Given the description of an element on the screen output the (x, y) to click on. 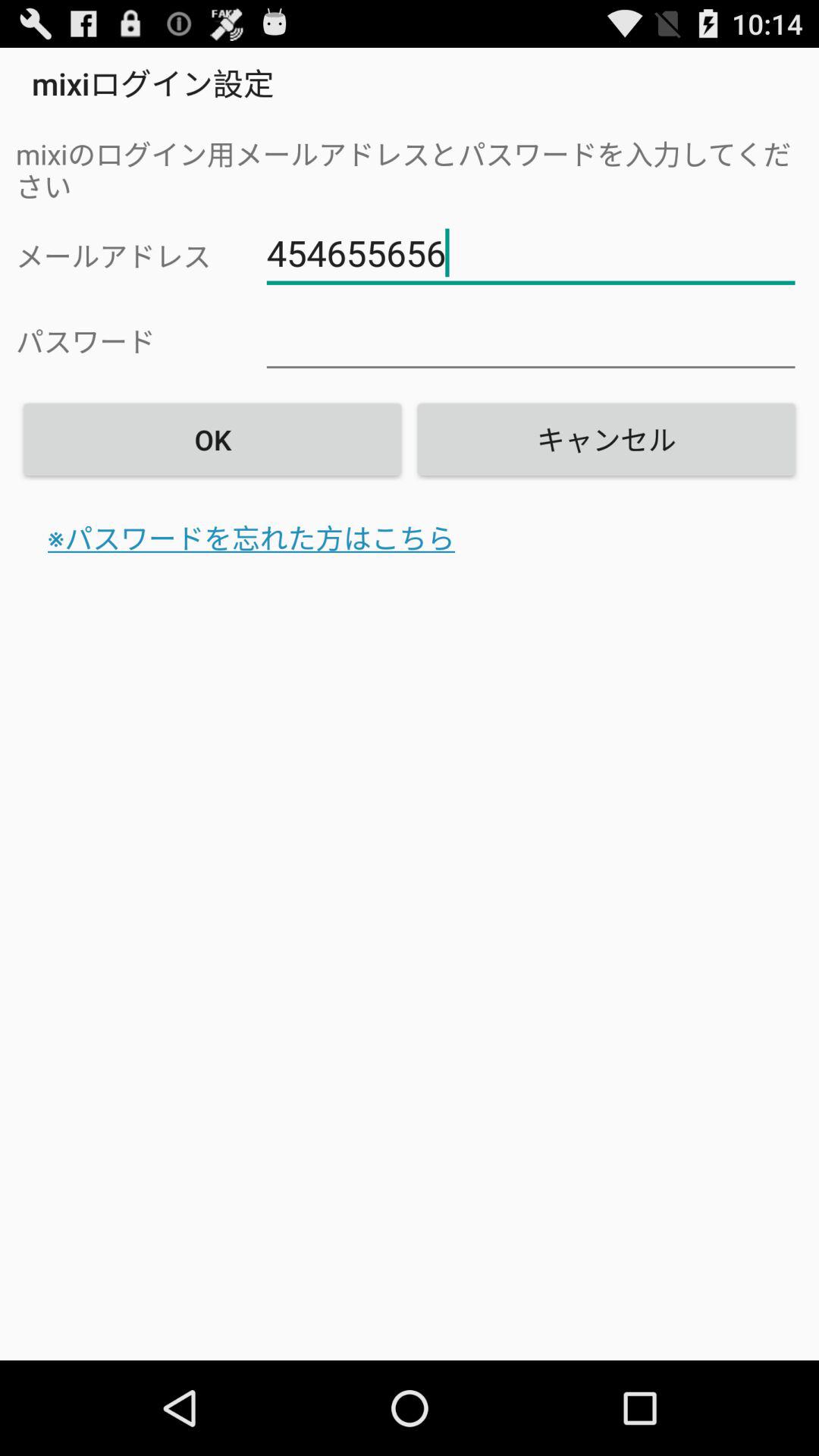
swipe to ok (212, 439)
